Given the description of an element on the screen output the (x, y) to click on. 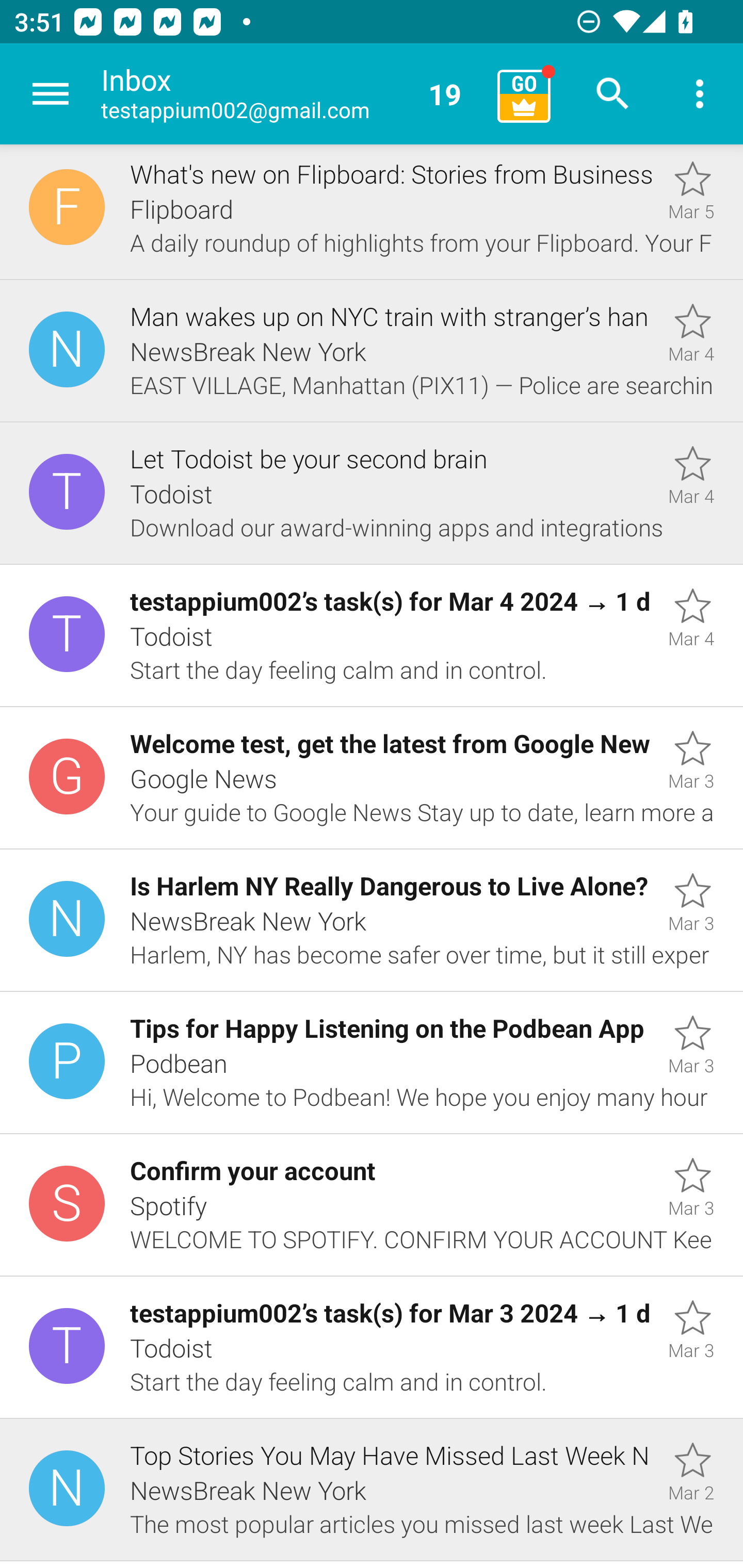
Navigate up (50, 93)
Inbox testappium002@gmail.com 19 (291, 93)
Search (612, 93)
More options (699, 93)
